Given the description of an element on the screen output the (x, y) to click on. 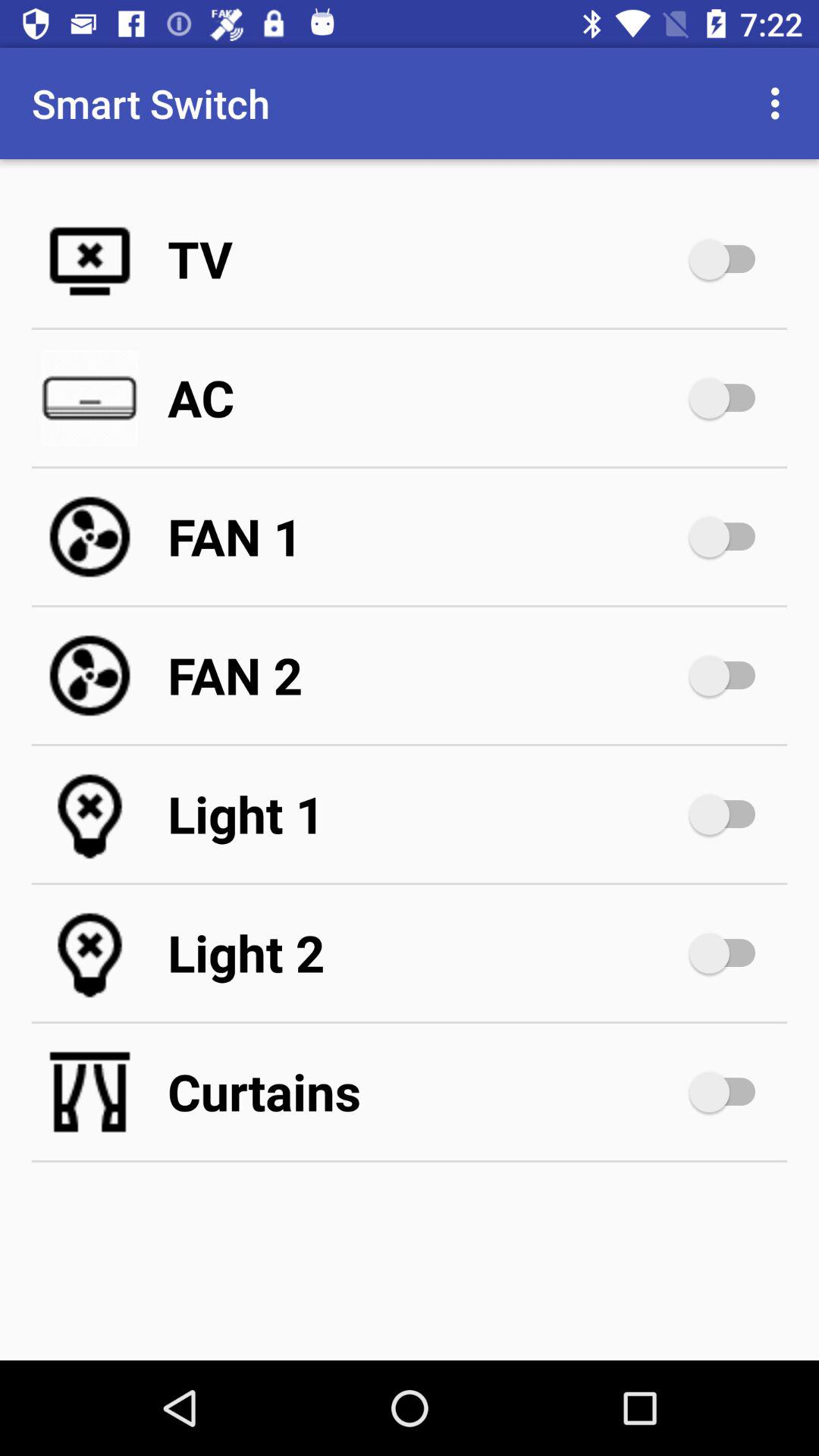
open fan 2 (424, 675)
